Given the description of an element on the screen output the (x, y) to click on. 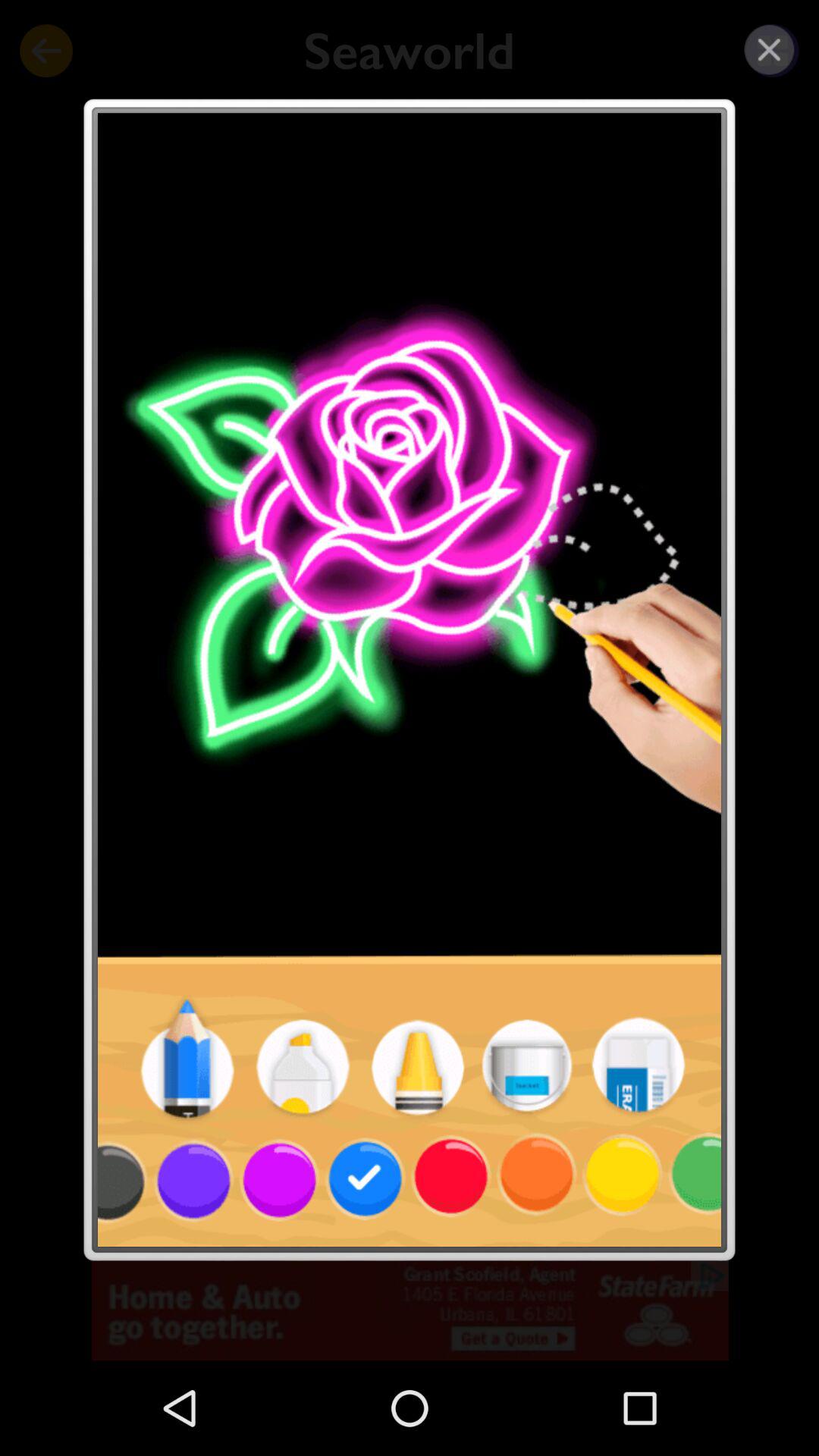
exit out of page (769, 49)
